Given the description of an element on the screen output the (x, y) to click on. 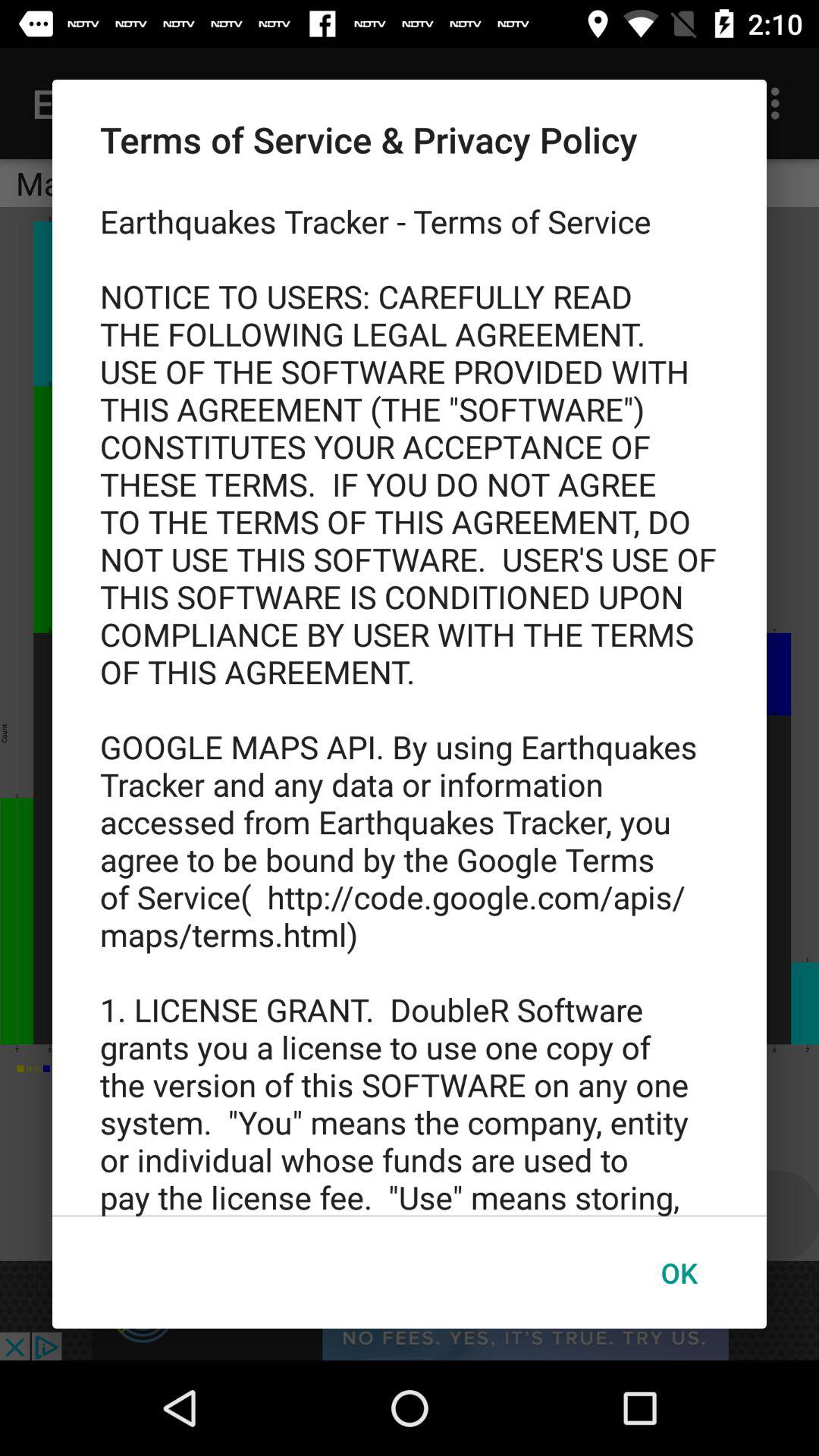
jump to the ok (678, 1272)
